Given the description of an element on the screen output the (x, y) to click on. 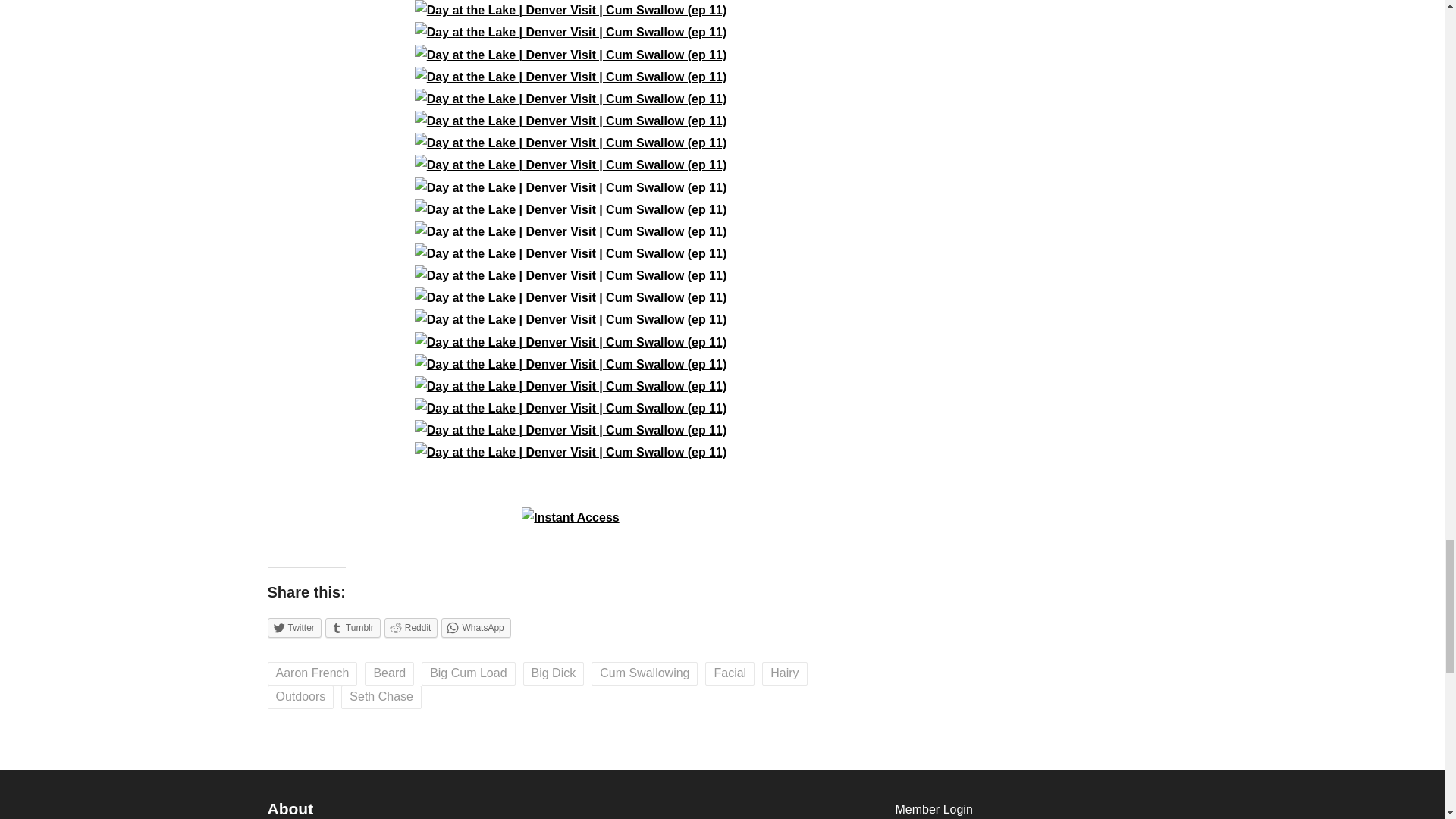
Big Cum Load (468, 673)
Click to share on Tumblr (352, 628)
Tumblr (352, 628)
WhatsApp (476, 628)
Aaron French (311, 673)
Click to share on Twitter (293, 628)
Outdoors (299, 697)
Hairy (783, 673)
Cum Swallowing (644, 673)
Seth Chase (381, 697)
Facial (729, 673)
Click to share on WhatsApp (476, 628)
Reddit (411, 628)
Big Dick (553, 673)
Click to share on Reddit (411, 628)
